Given the description of an element on the screen output the (x, y) to click on. 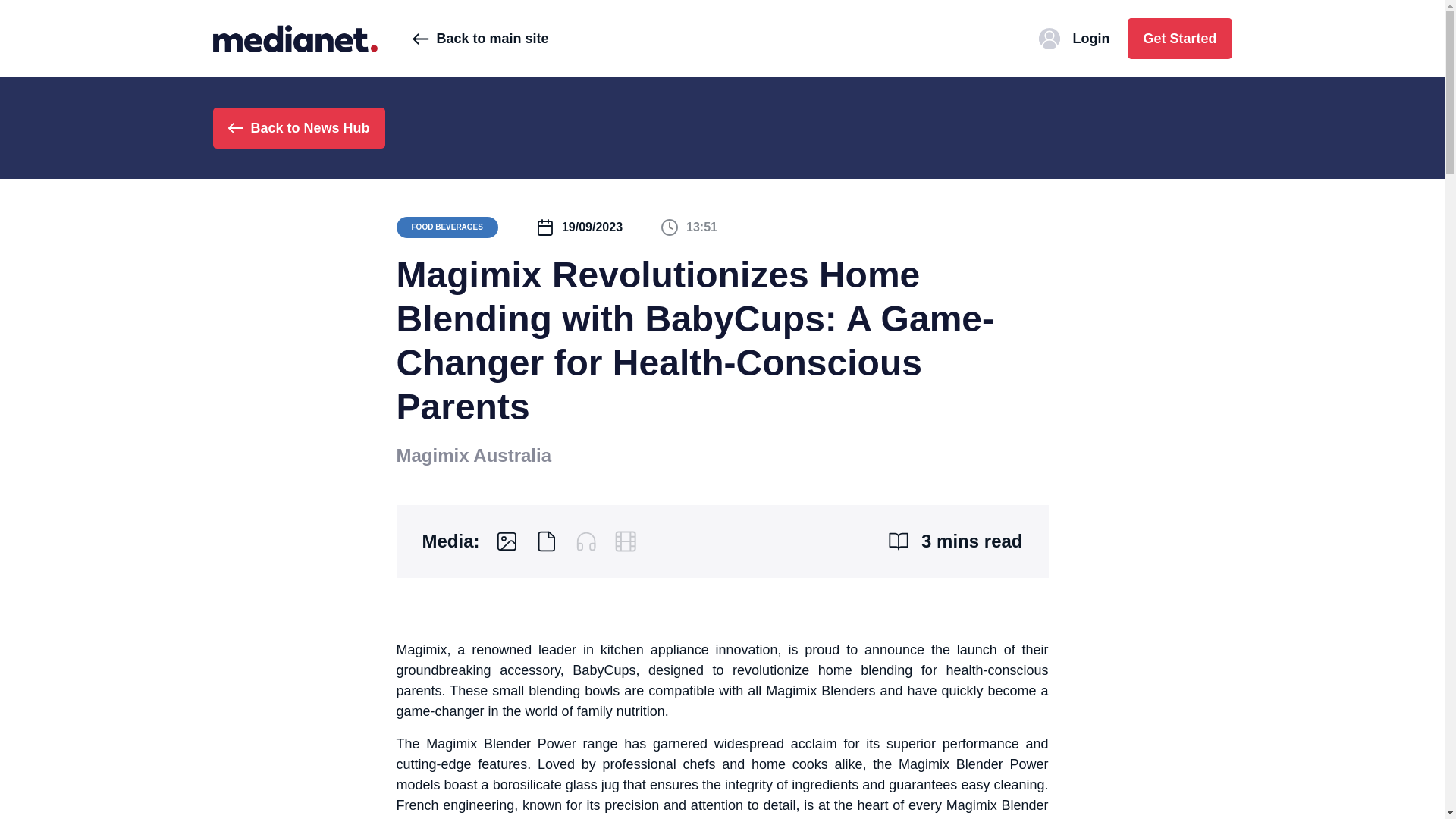
Get Started (1178, 38)
Scroll to images (507, 541)
Back to News Hub (298, 127)
No audio attachments (585, 541)
Login (1074, 38)
No video attachments (624, 541)
News Hub (294, 38)
Back to main site (480, 38)
Scroll to files (546, 541)
